Given the description of an element on the screen output the (x, y) to click on. 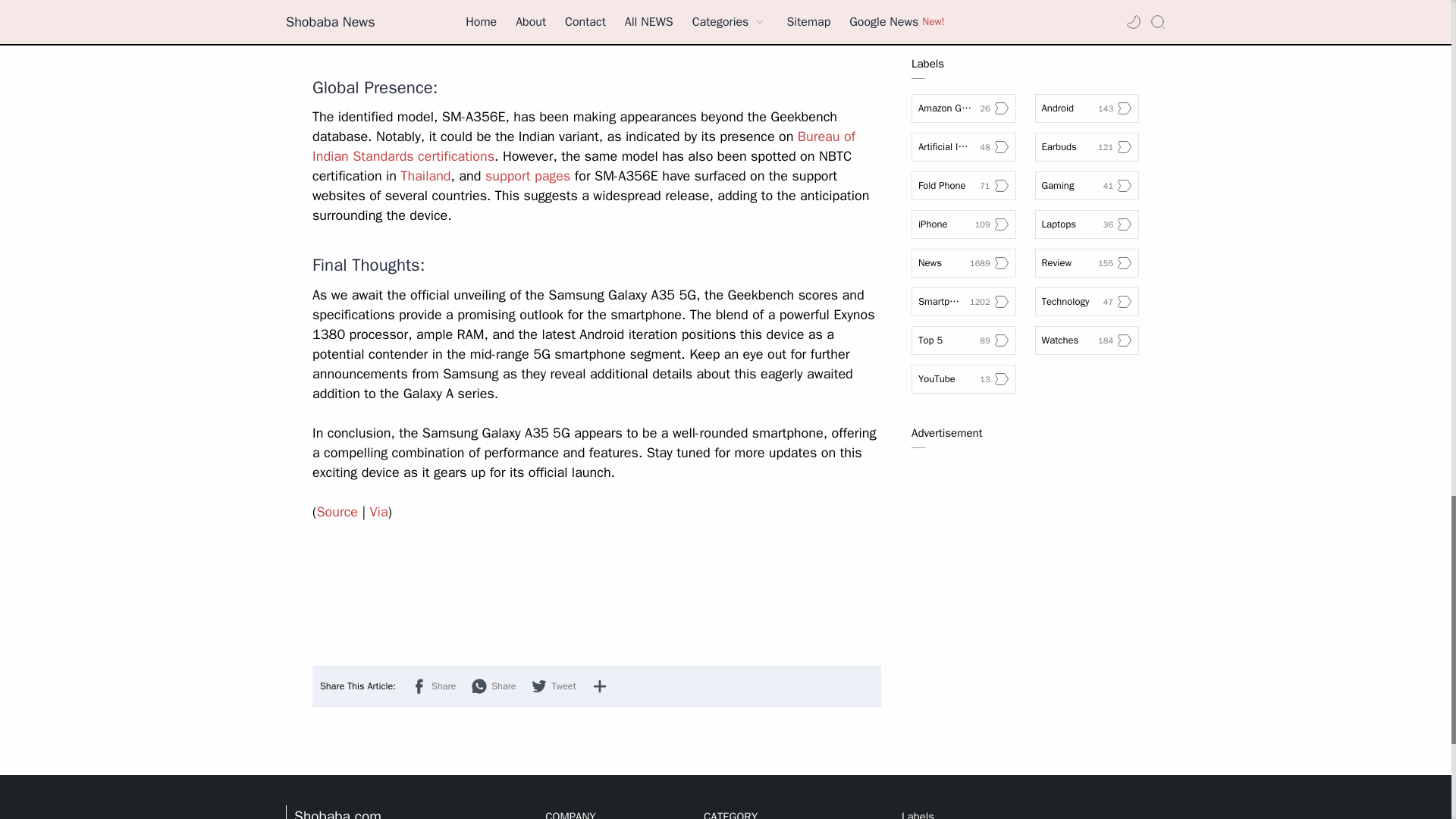
support pages (527, 175)
Via (378, 511)
Bureau of Indian Standards certifications (584, 145)
Thailand (424, 175)
Source (336, 511)
Share to Twitter (553, 686)
Share to Facebook (432, 686)
Share to Whatsapp (492, 686)
